Given the description of an element on the screen output the (x, y) to click on. 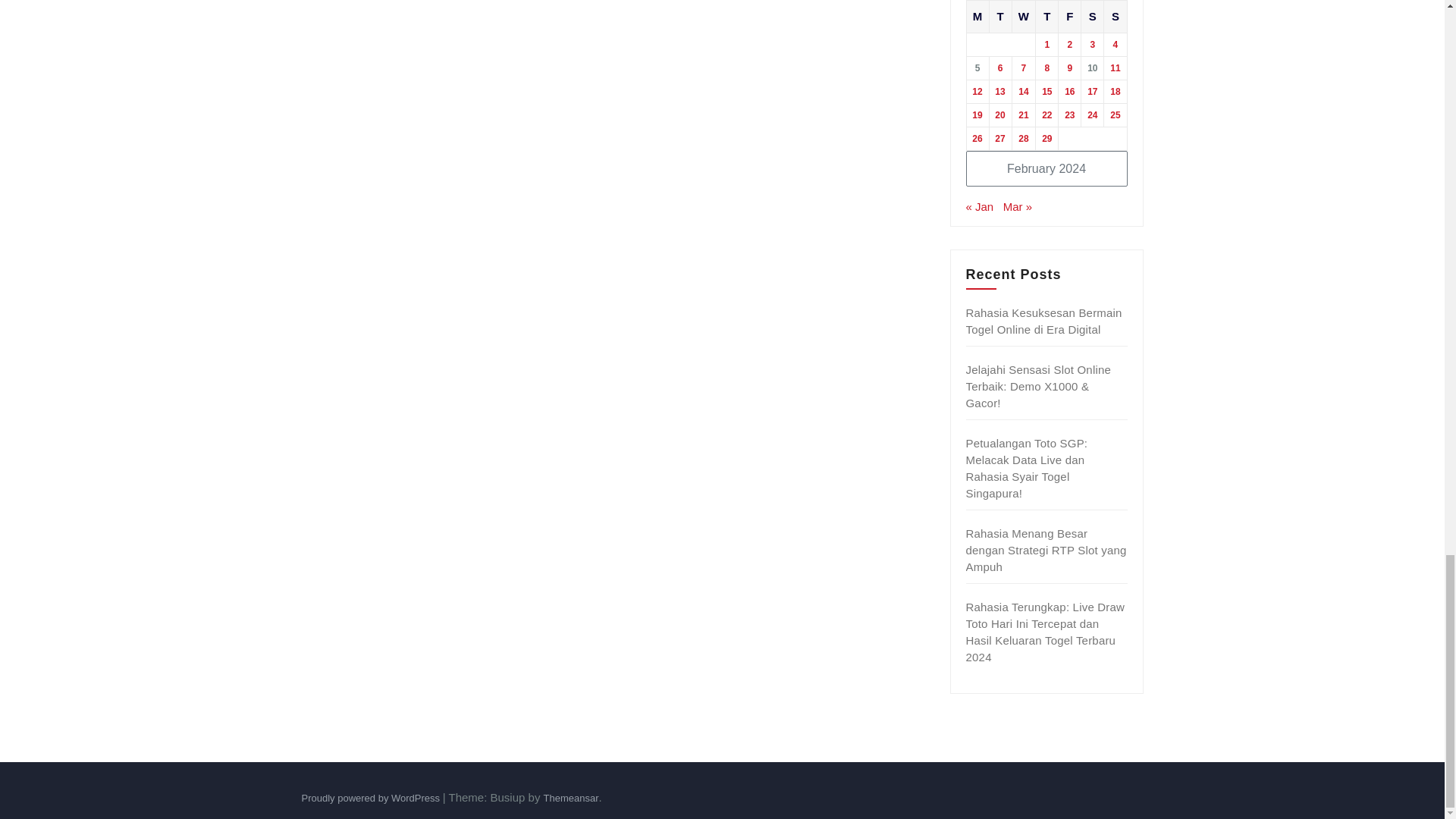
Saturday (1092, 16)
Sunday (1114, 16)
Wednesday (1023, 16)
Monday (977, 16)
Thursday (1046, 16)
Tuesday (999, 16)
Friday (1069, 16)
